Given the description of an element on the screen output the (x, y) to click on. 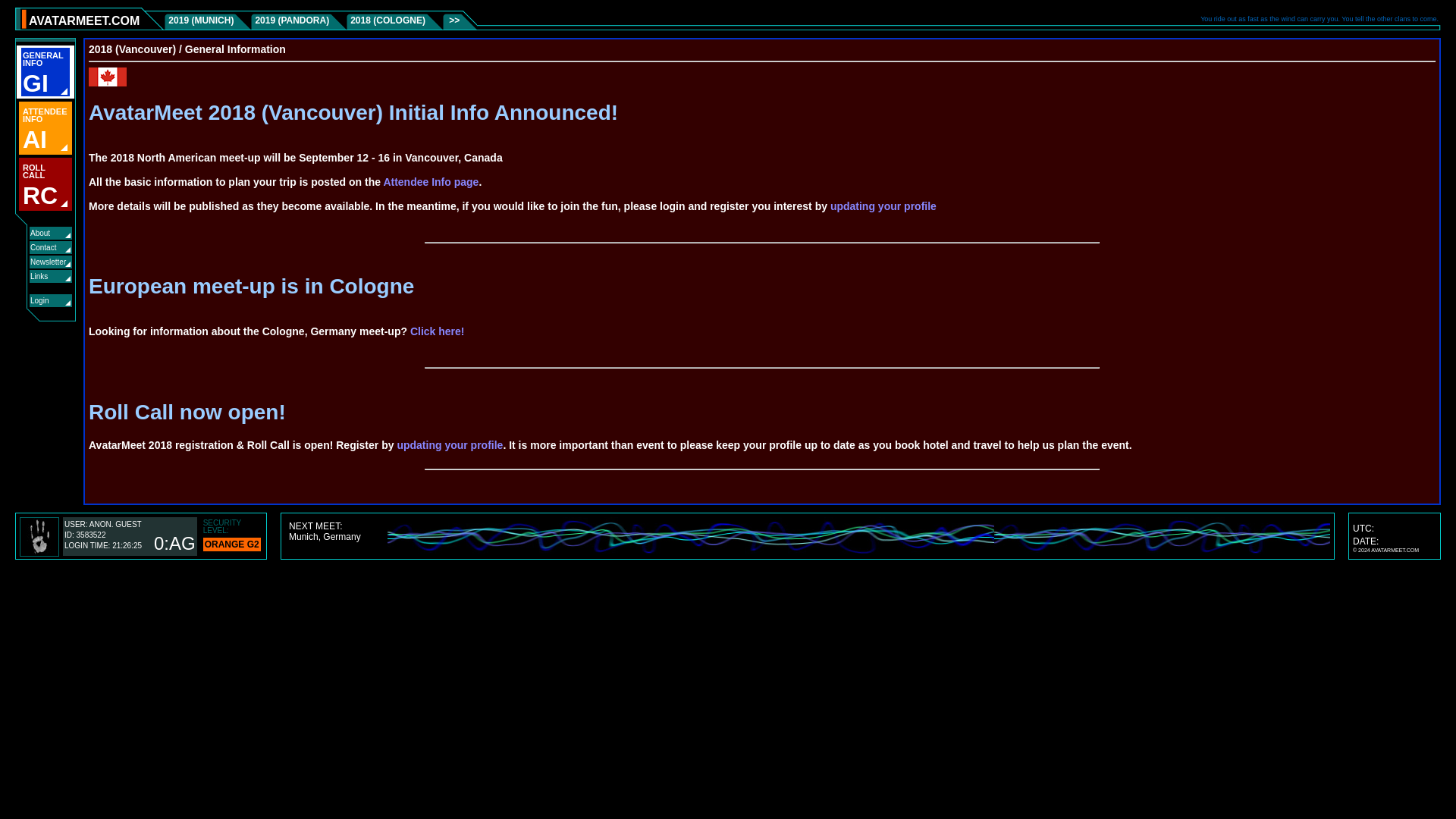
About (44, 71)
AVATARMEET.COM (31, 231)
Links (84, 20)
updating your profile (44, 184)
Newsletter (31, 274)
Click here! (449, 444)
Login (39, 259)
Attendee Info page (437, 331)
